Given the description of an element on the screen output the (x, y) to click on. 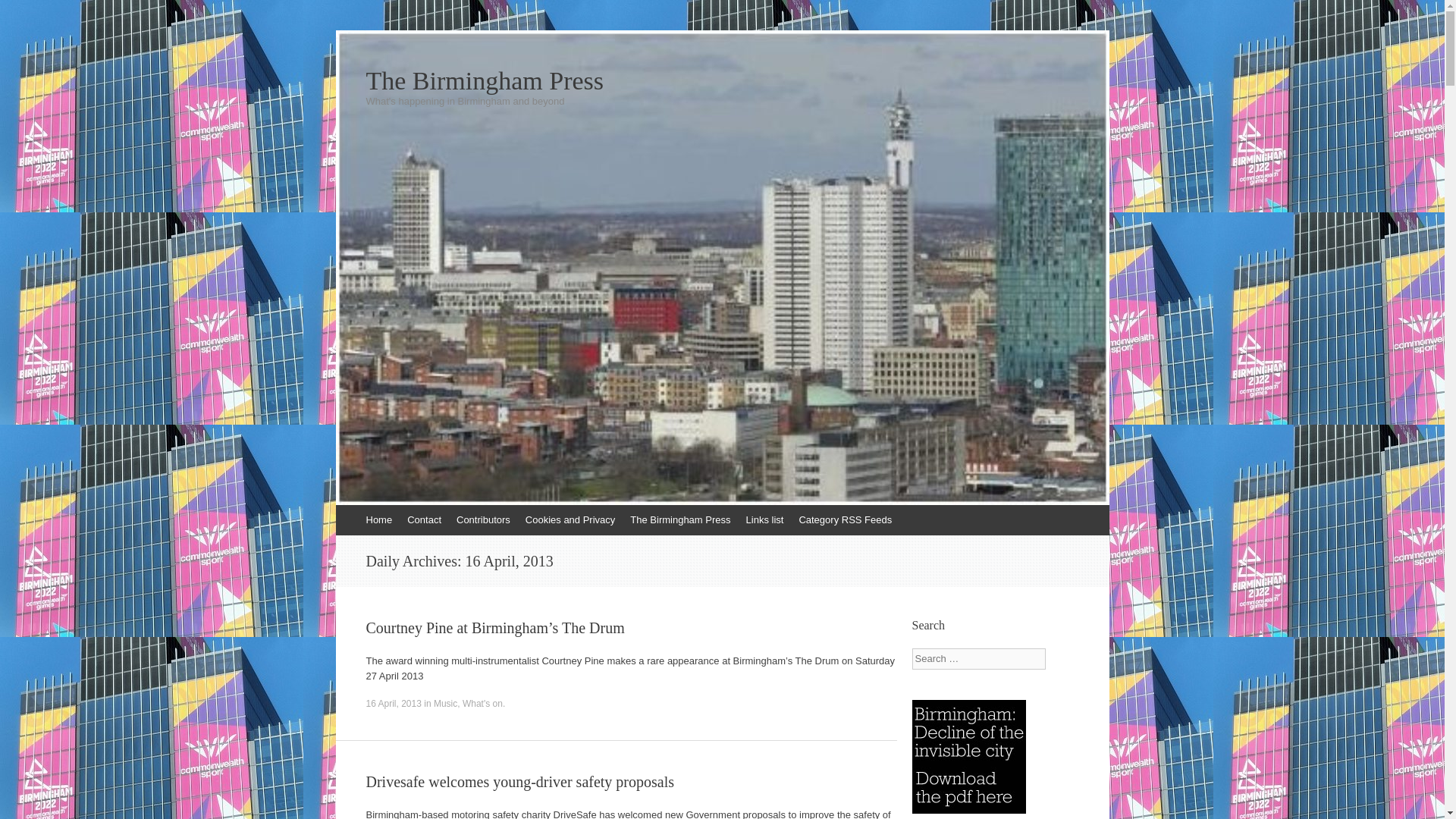
What's on (482, 703)
Contact (423, 520)
Skip to content (342, 512)
Cookies and Privacy (570, 520)
16 April, 2013 (392, 703)
Links list (765, 520)
Music (445, 703)
Cookies and Privacy (570, 520)
Home (378, 520)
Contributors (483, 520)
The Birmingham Press (721, 80)
Home (378, 520)
Contact (423, 520)
Contributors (483, 520)
The Birmingham Press (680, 520)
